Given the description of an element on the screen output the (x, y) to click on. 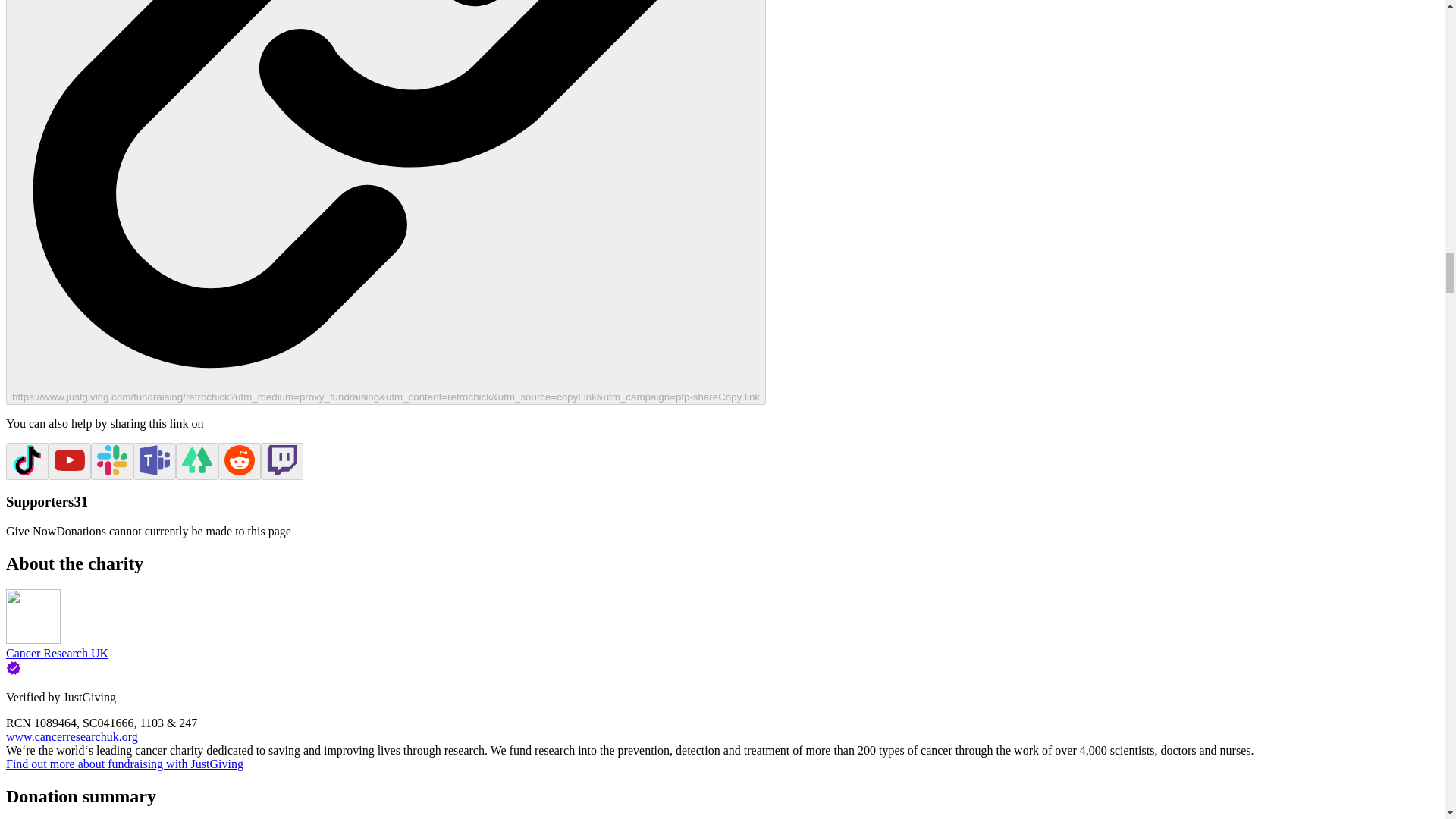
www.cancerresearchuk.org (71, 736)
Cancer Research UK (56, 653)
Find out more about fundraising with JustGiving (124, 763)
